Given the description of an element on the screen output the (x, y) to click on. 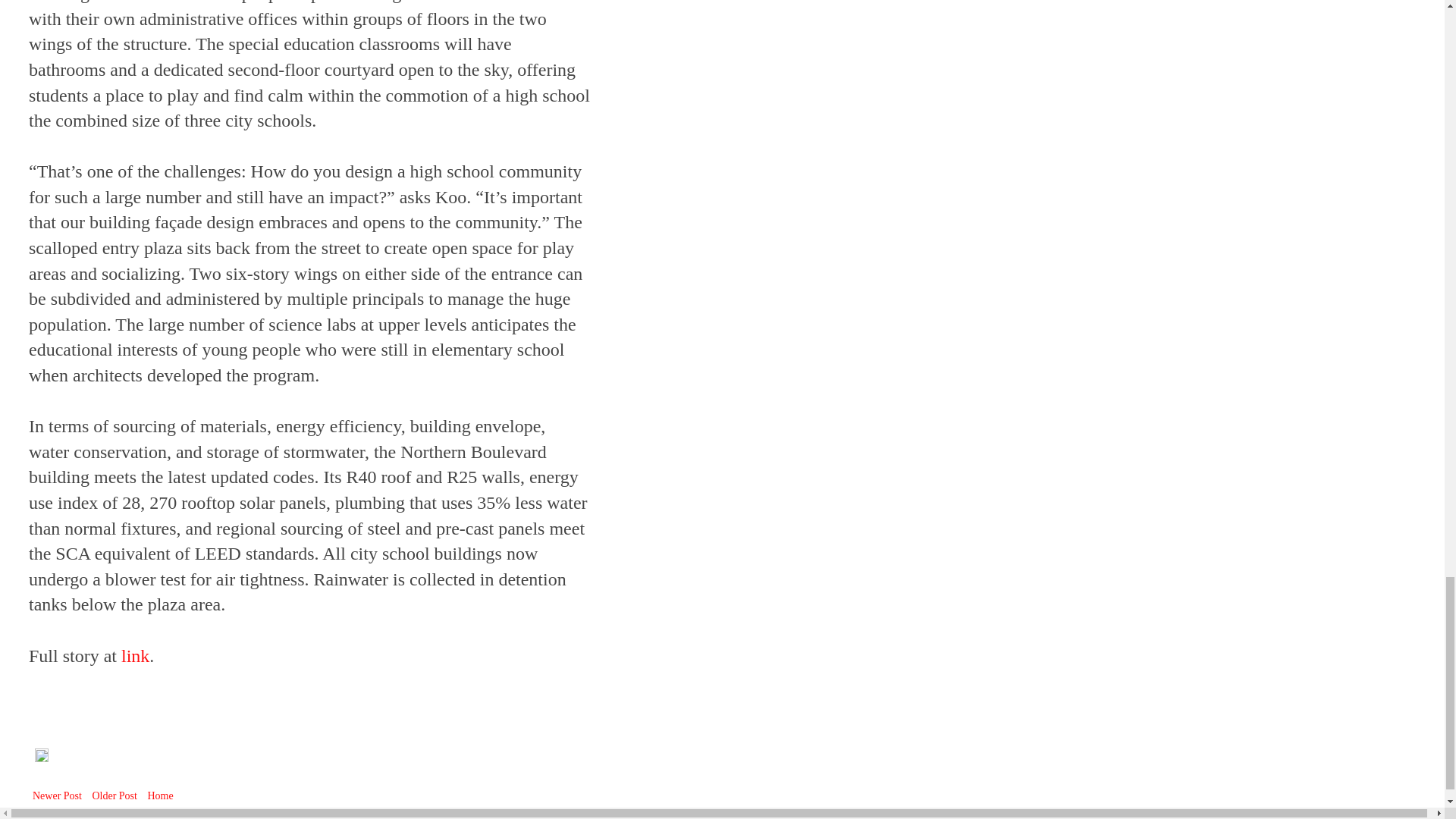
Newer Post (57, 795)
Home (159, 795)
Edit Post (41, 758)
Older Post (114, 795)
Newer Post (57, 795)
Older Post (114, 795)
link (134, 655)
